Given the description of an element on the screen output the (x, y) to click on. 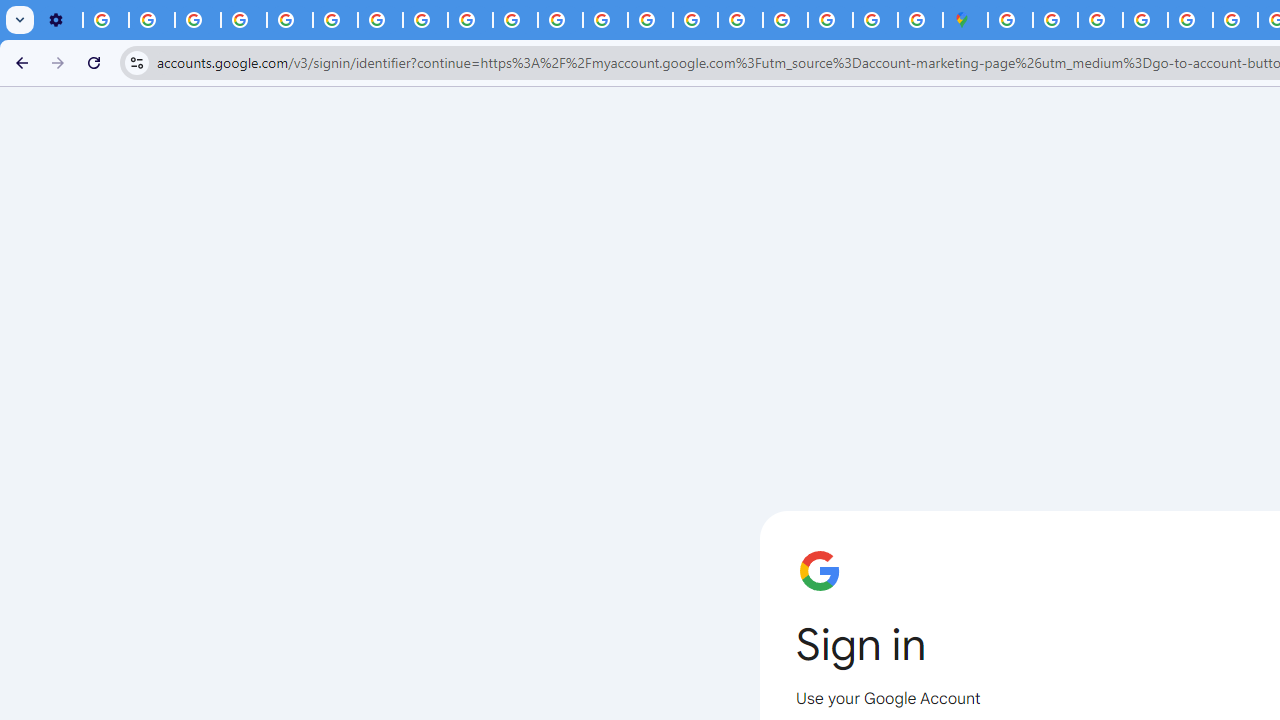
Sign in - Google Accounts (1010, 20)
